Given the description of an element on the screen output the (x, y) to click on. 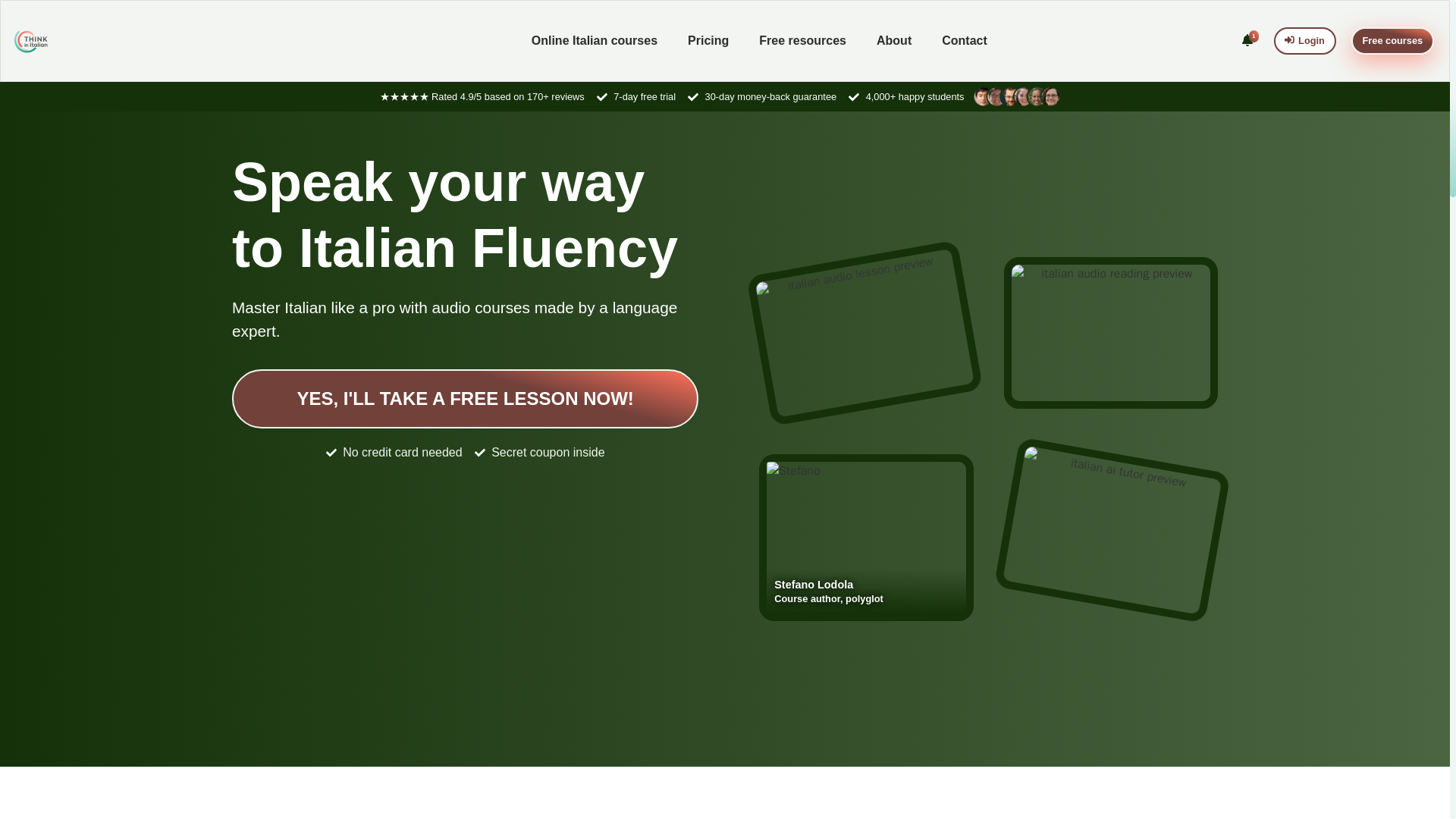
Online Italian courses (594, 40)
Free resources (802, 40)
Pricing (708, 40)
Contact (964, 40)
About (893, 40)
